Given the description of an element on the screen output the (x, y) to click on. 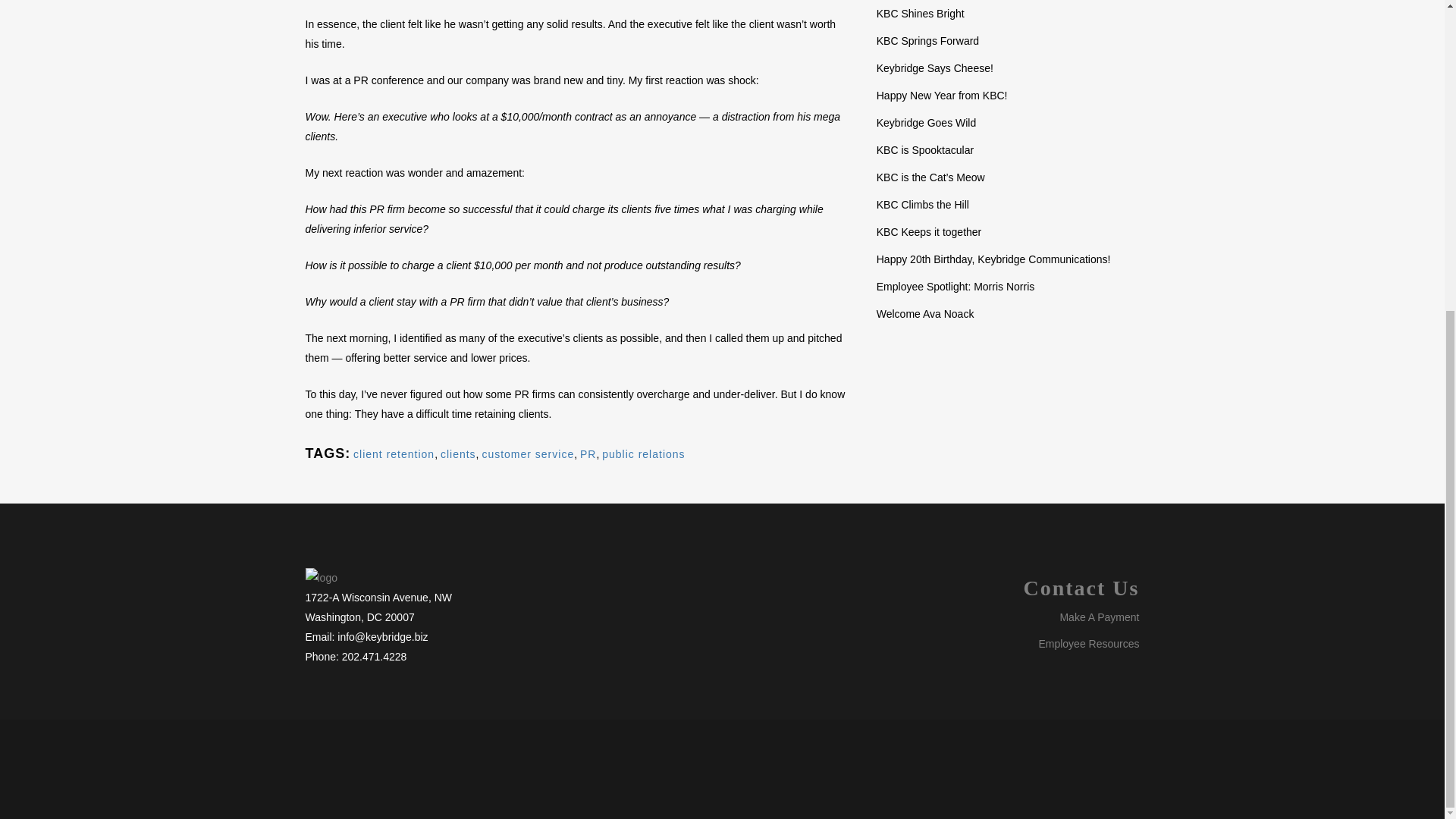
Keybridge Goes Wild (926, 122)
KBC Climbs the Hill (922, 204)
public relations (643, 453)
Keybridge Says Cheese! (934, 68)
Happy New Year from KBC! (941, 95)
KBC Springs Forward (927, 40)
KBC is Spooktacular (925, 150)
PR (587, 453)
KBC Shines Bright (919, 13)
customer service (527, 453)
clients (458, 453)
client retention (393, 453)
